Given the description of an element on the screen output the (x, y) to click on. 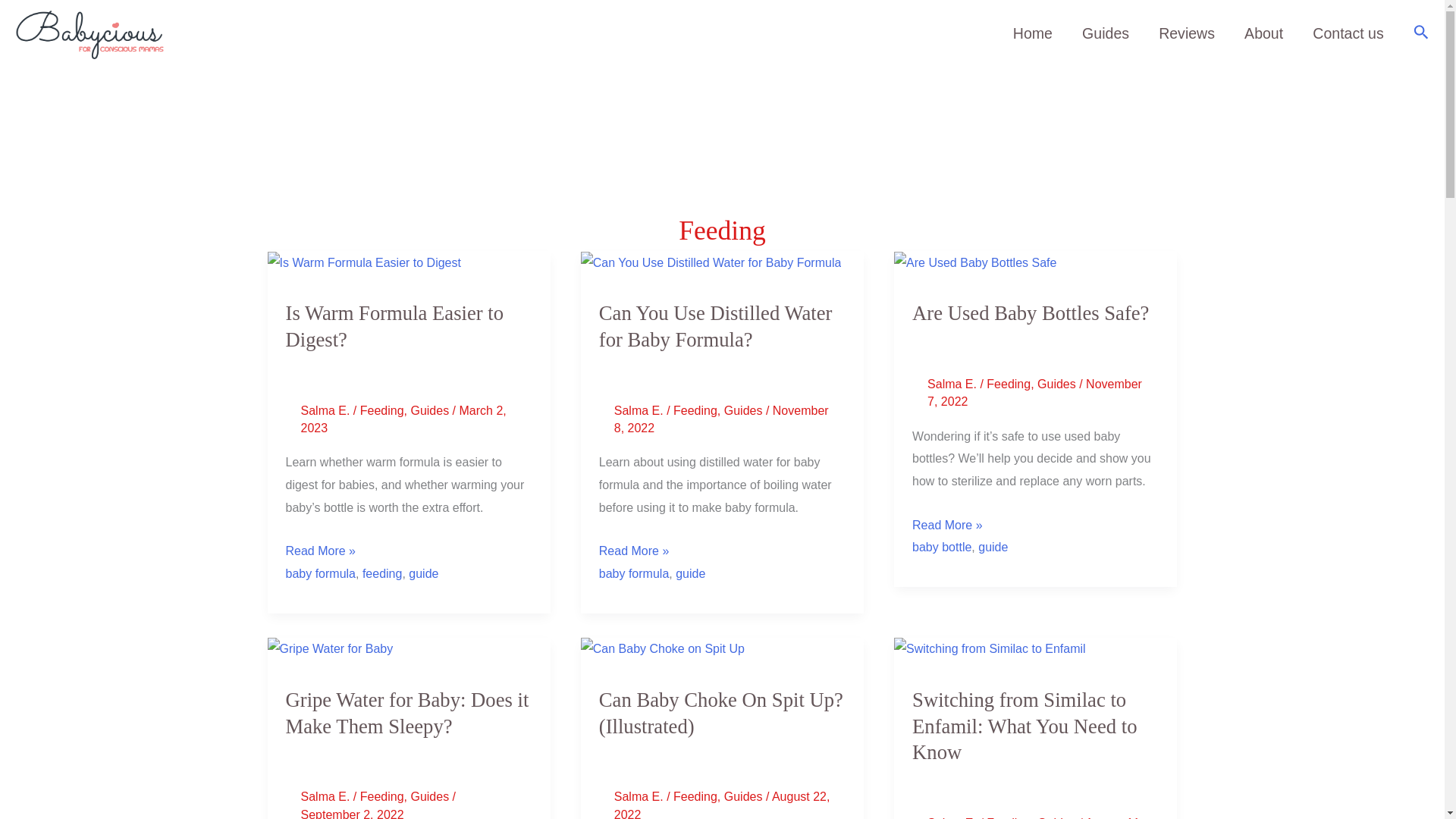
View all posts by Salma E. (325, 796)
baby formula (633, 573)
Feeding (381, 410)
Salma E. (325, 410)
Salma E. (953, 383)
Guides (1055, 383)
Feeding (1008, 383)
View all posts by Salma E. (640, 410)
View all posts by Salma E. (953, 817)
Salma E. (640, 410)
Are Used Baby Bottles Safe? (1030, 313)
Contact us (1348, 32)
Feeding (694, 410)
Home (1032, 32)
baby formula (320, 573)
